Given the description of an element on the screen output the (x, y) to click on. 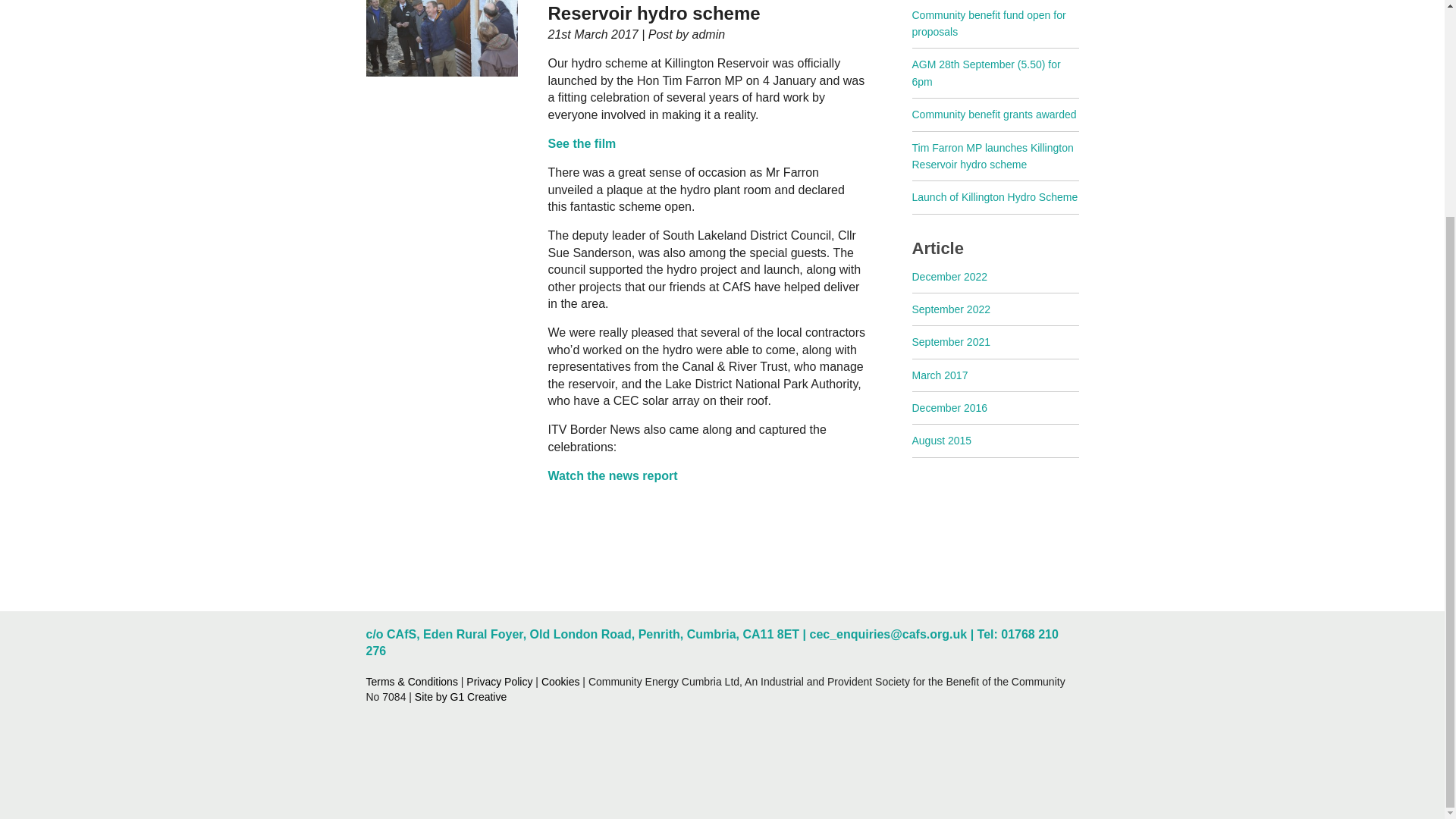
December 2022 (949, 275)
Tim Farron MP launches Killington Reservoir hydro scheme (992, 155)
September 2021 (950, 341)
September 2022 (950, 309)
December 2016 (949, 408)
Launch of Killington Hydro Scheme (994, 196)
See the film (581, 143)
March 2017 (939, 375)
Community benefit grants awarded (993, 114)
Community benefit fund open for proposals (988, 23)
